Given the description of an element on the screen output the (x, y) to click on. 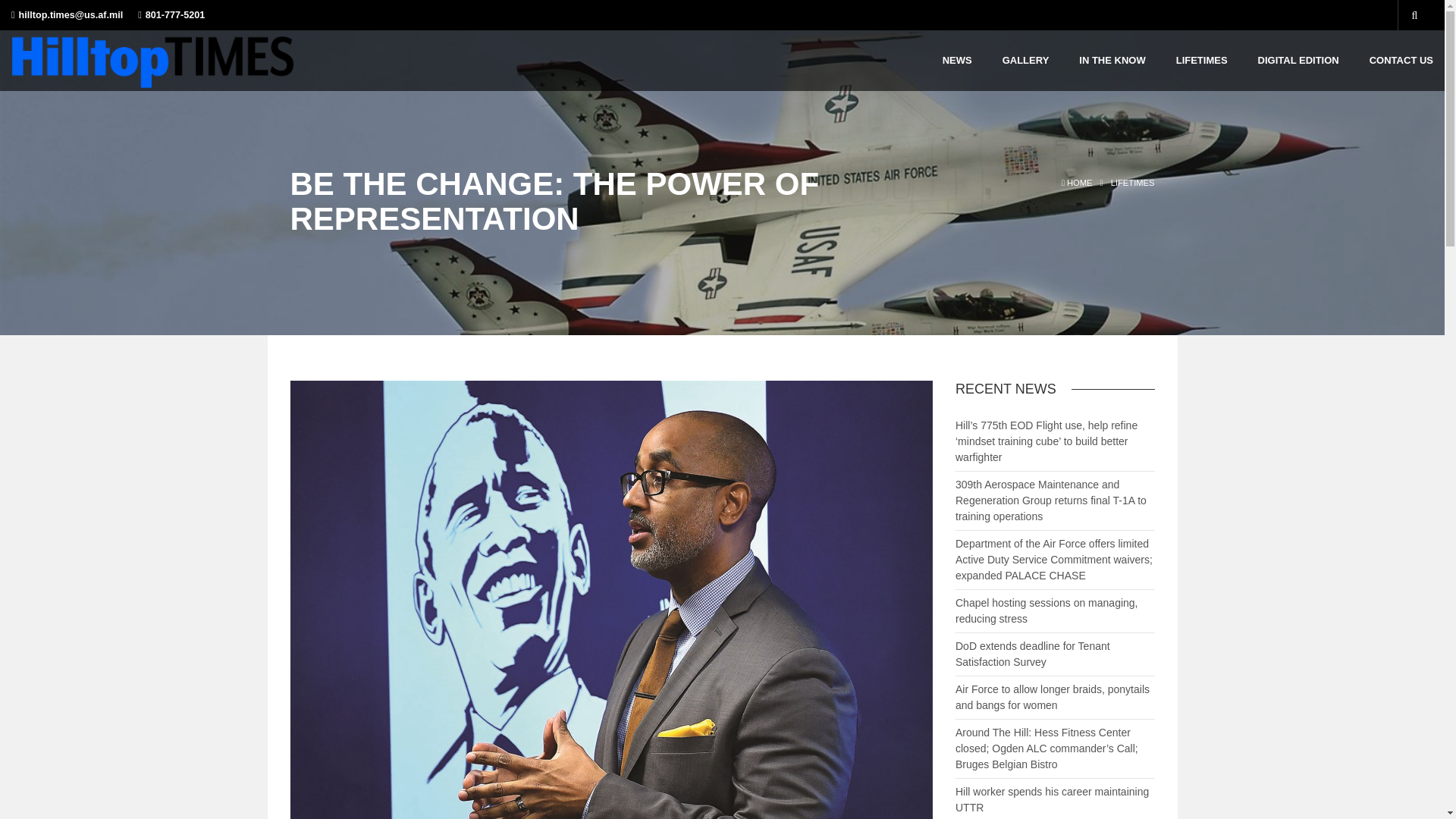
DIGITAL EDITION (1298, 60)
IN THE KNOW (1111, 60)
LIFETIMES (1132, 182)
HOME (1076, 182)
CONTACT US (1401, 60)
